Given the description of an element on the screen output the (x, y) to click on. 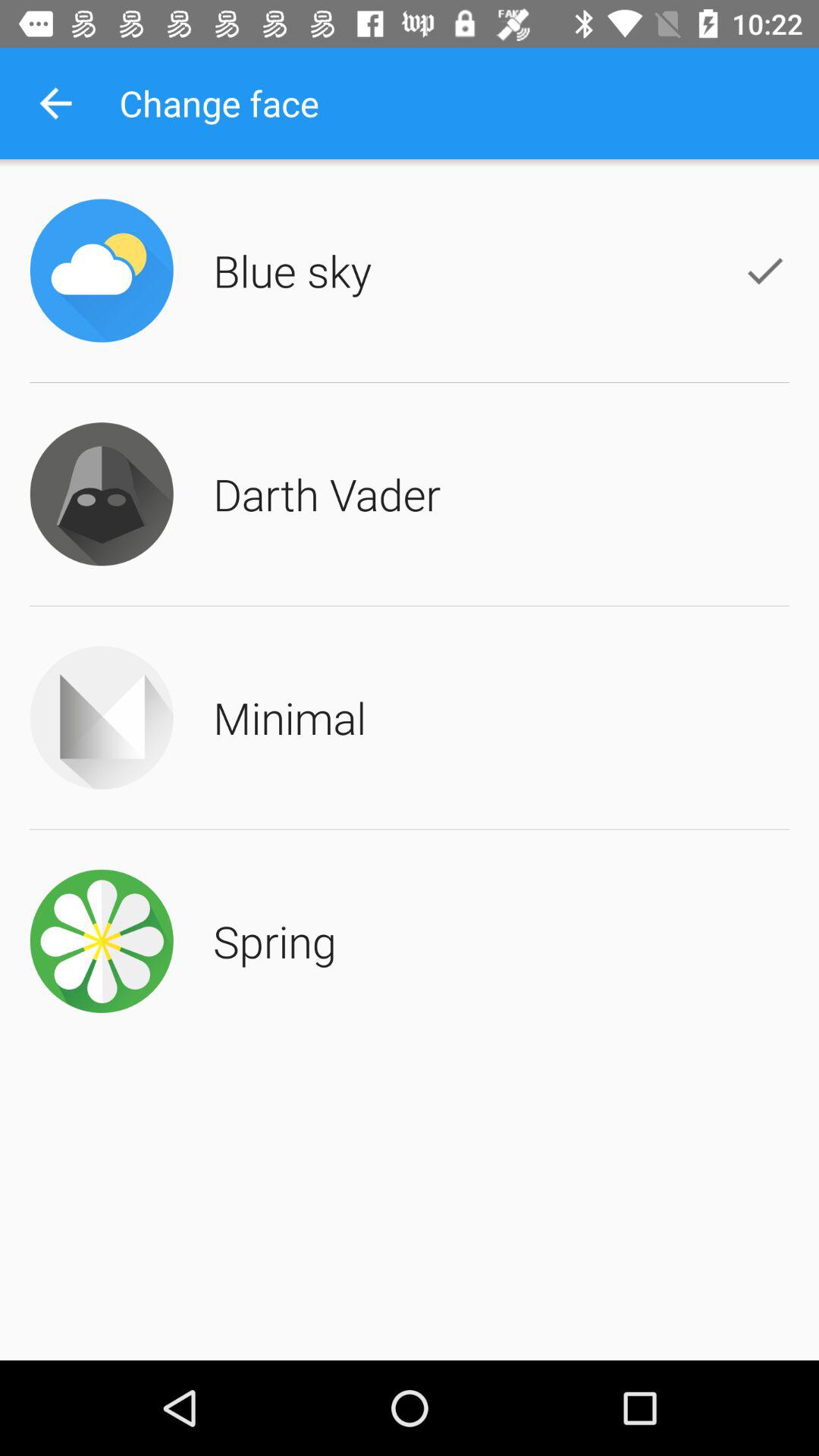
flip to the blue sky item (292, 270)
